Given the description of an element on the screen output the (x, y) to click on. 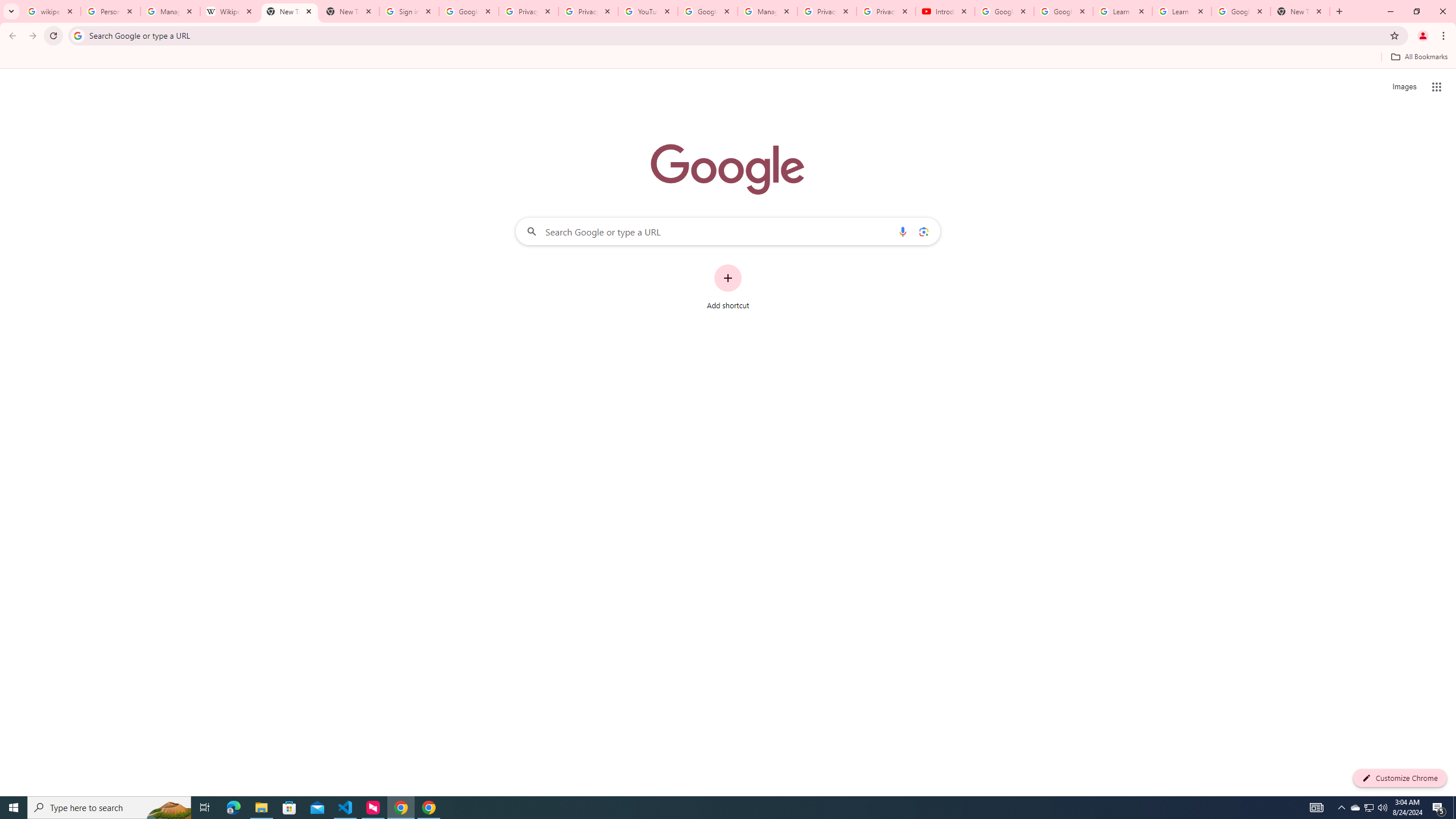
New Tab (349, 11)
